Given the description of an element on the screen output the (x, y) to click on. 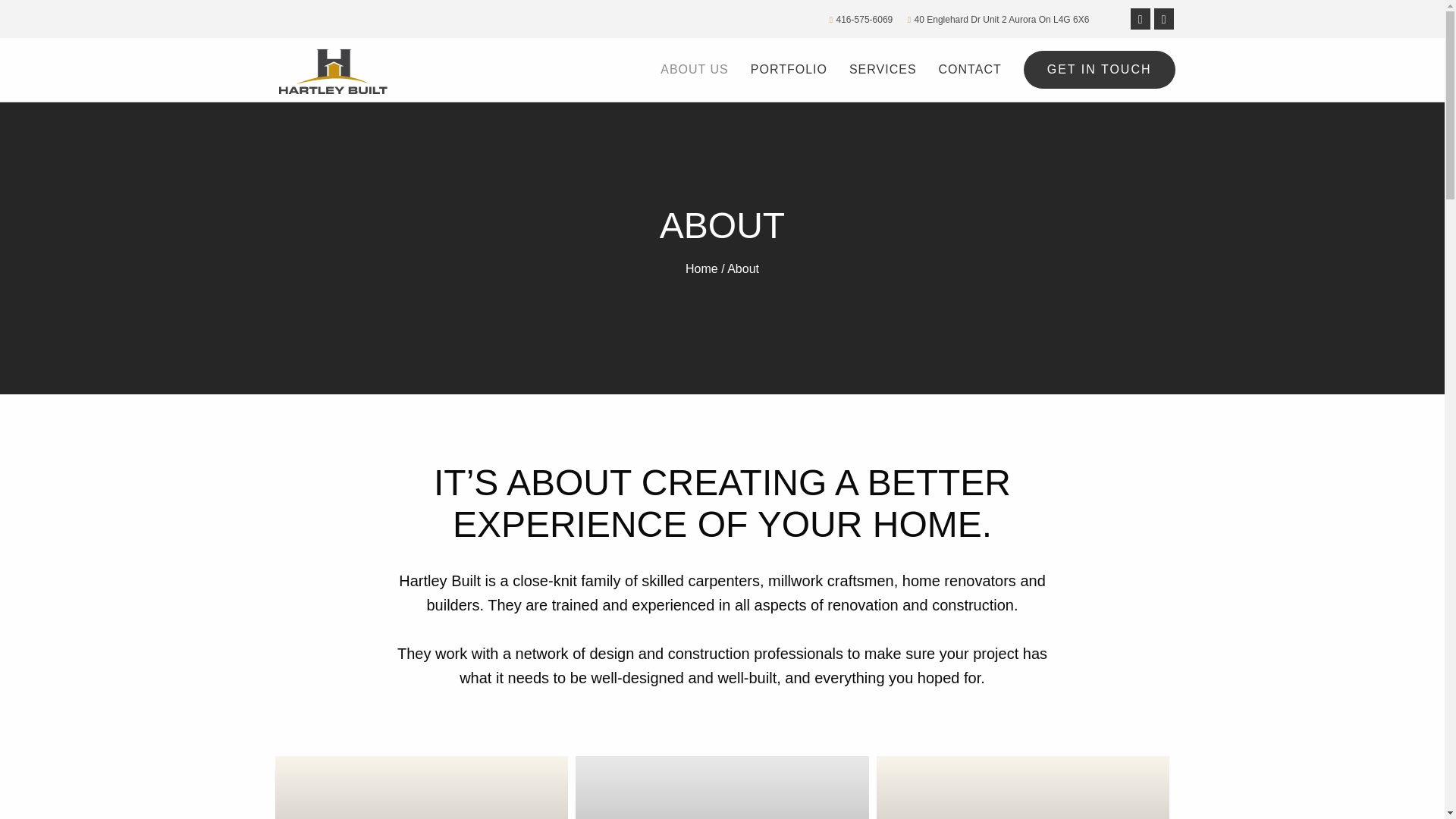
About (742, 268)
416-575-6069 (864, 19)
GET IN TOUCH (1098, 69)
Home (701, 268)
ABOUT US (694, 69)
PORTFOLIO (788, 69)
SERVICES (882, 69)
CONTACT (970, 69)
